Given the description of an element on the screen output the (x, y) to click on. 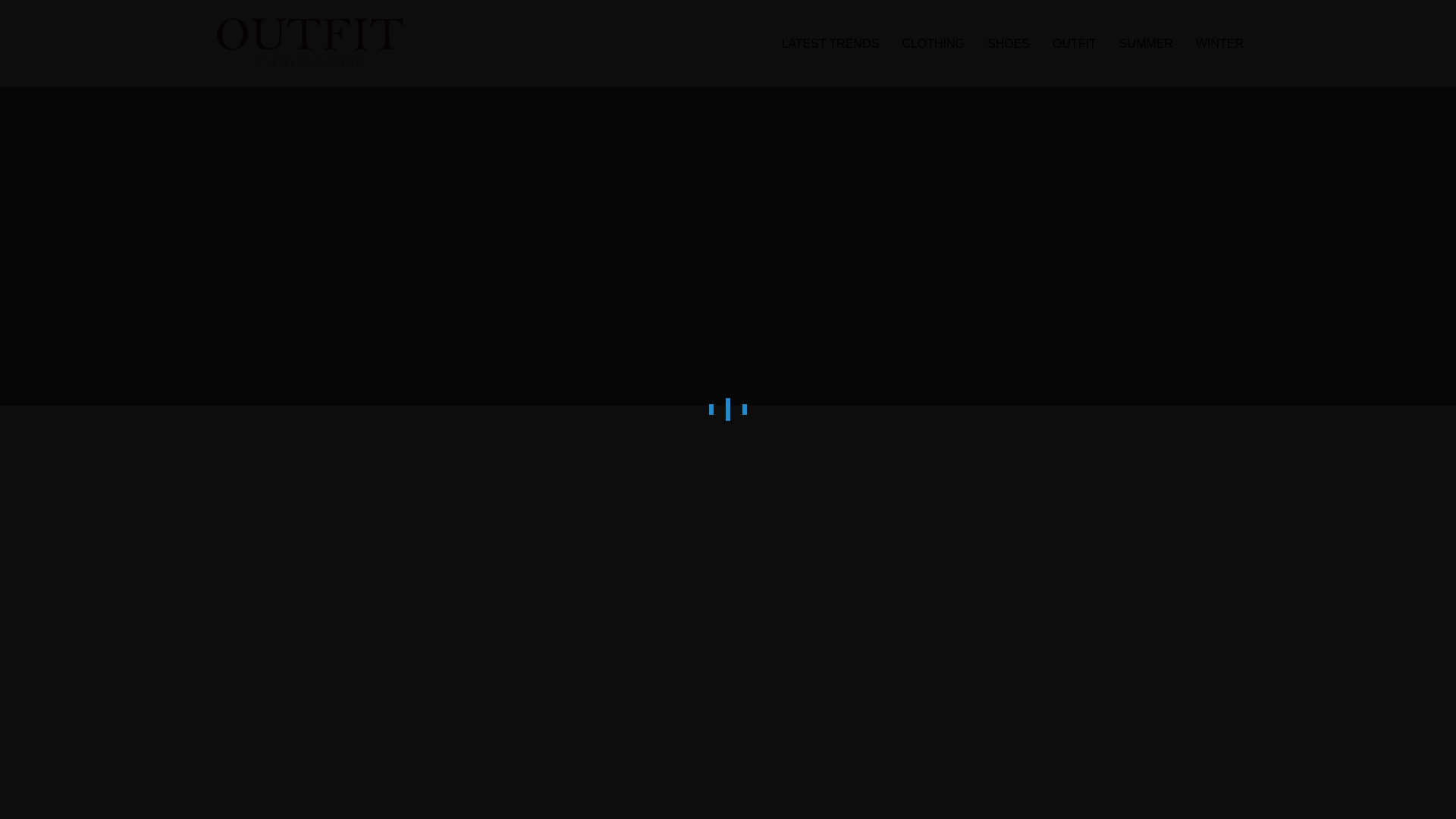
CLOTHING (932, 43)
SUMMER (1146, 43)
SHOES (1008, 43)
LATEST TRENDS (829, 43)
WINTER (1219, 43)
OUTFIT (1074, 43)
